Given the description of an element on the screen output the (x, y) to click on. 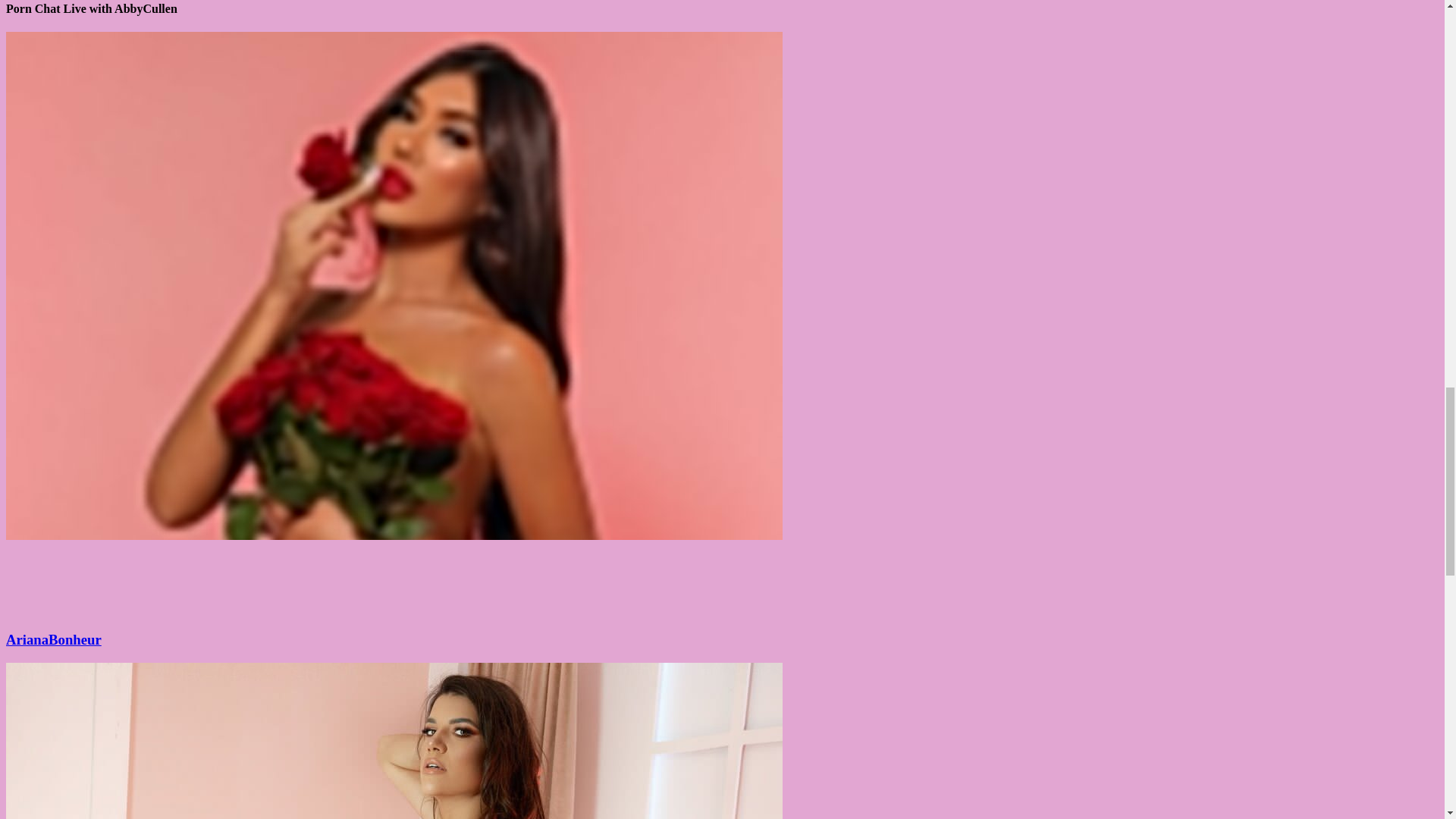
Webcam Nude Show (394, 609)
